Given the description of an element on the screen output the (x, y) to click on. 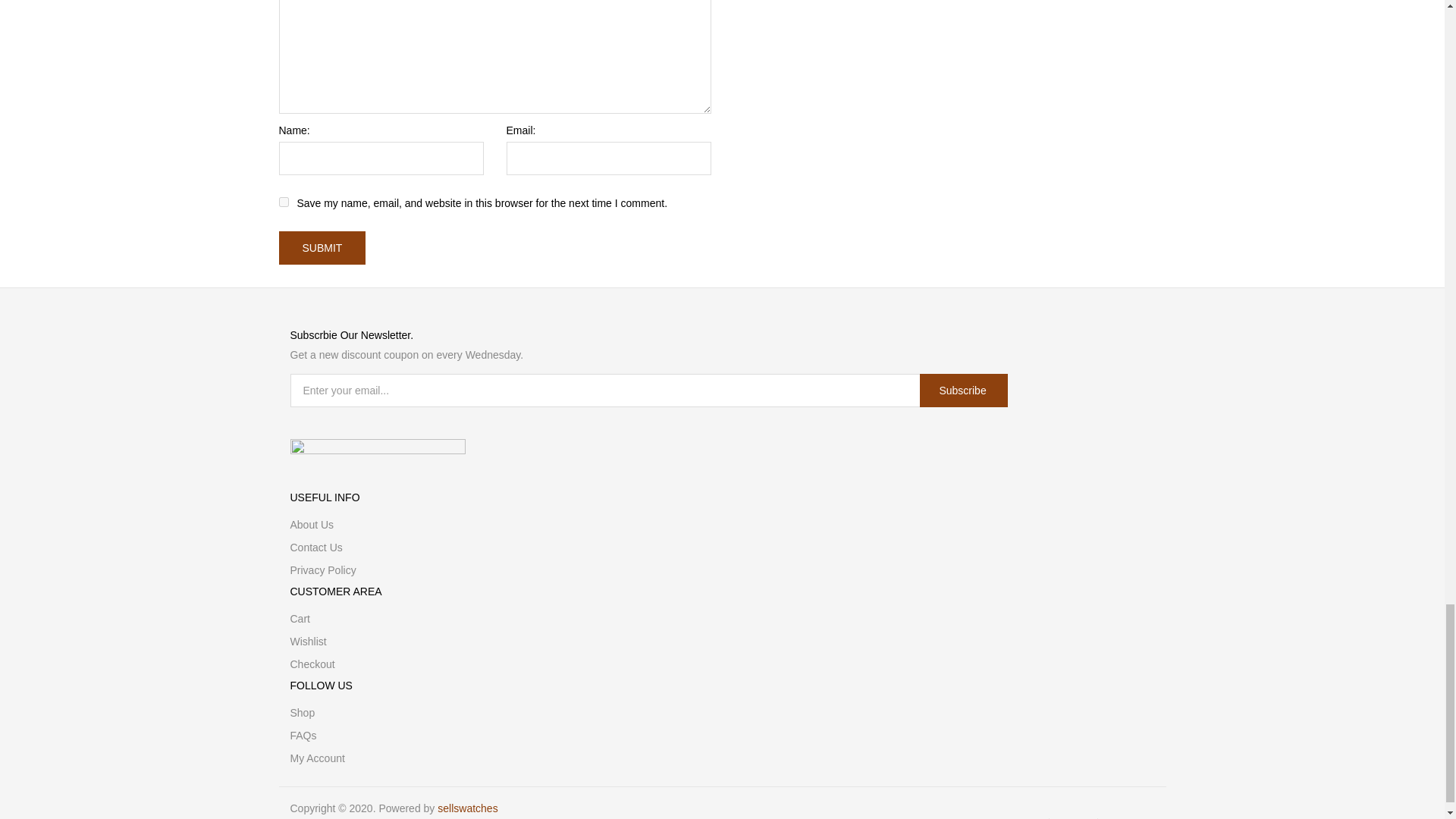
yes (283, 202)
submit (322, 247)
payments (376, 447)
subscribe (963, 390)
